Given the description of an element on the screen output the (x, y) to click on. 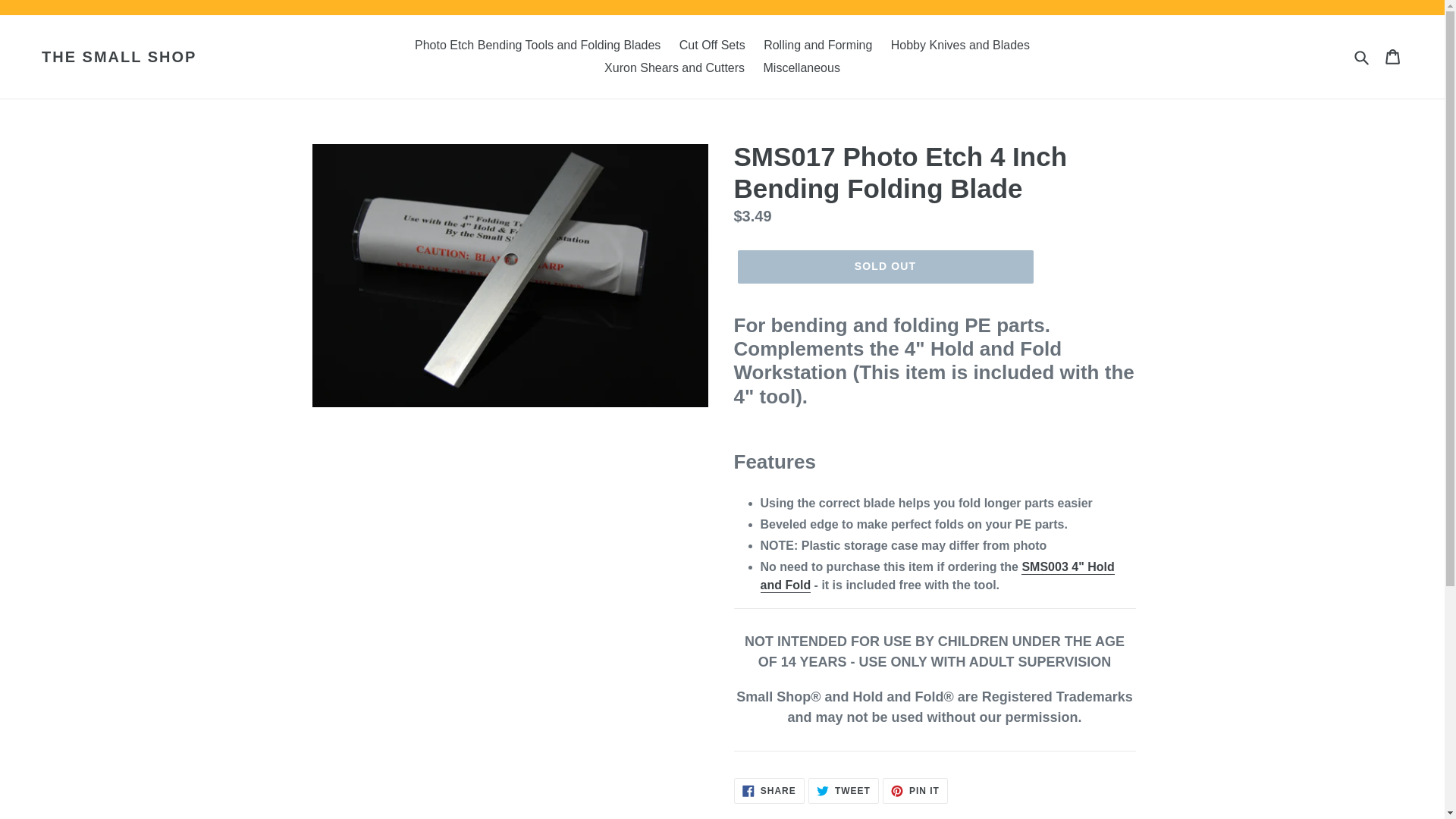
Hobby Knives and Blades (959, 45)
THE SMALL SHOP (119, 56)
SOLD OUT (884, 266)
Cut Off Sets (914, 790)
Rolling and Forming (711, 45)
Cart (817, 45)
Submit (769, 790)
Photo Etch Bending Tools and Folding Blades (1393, 57)
